Given the description of an element on the screen output the (x, y) to click on. 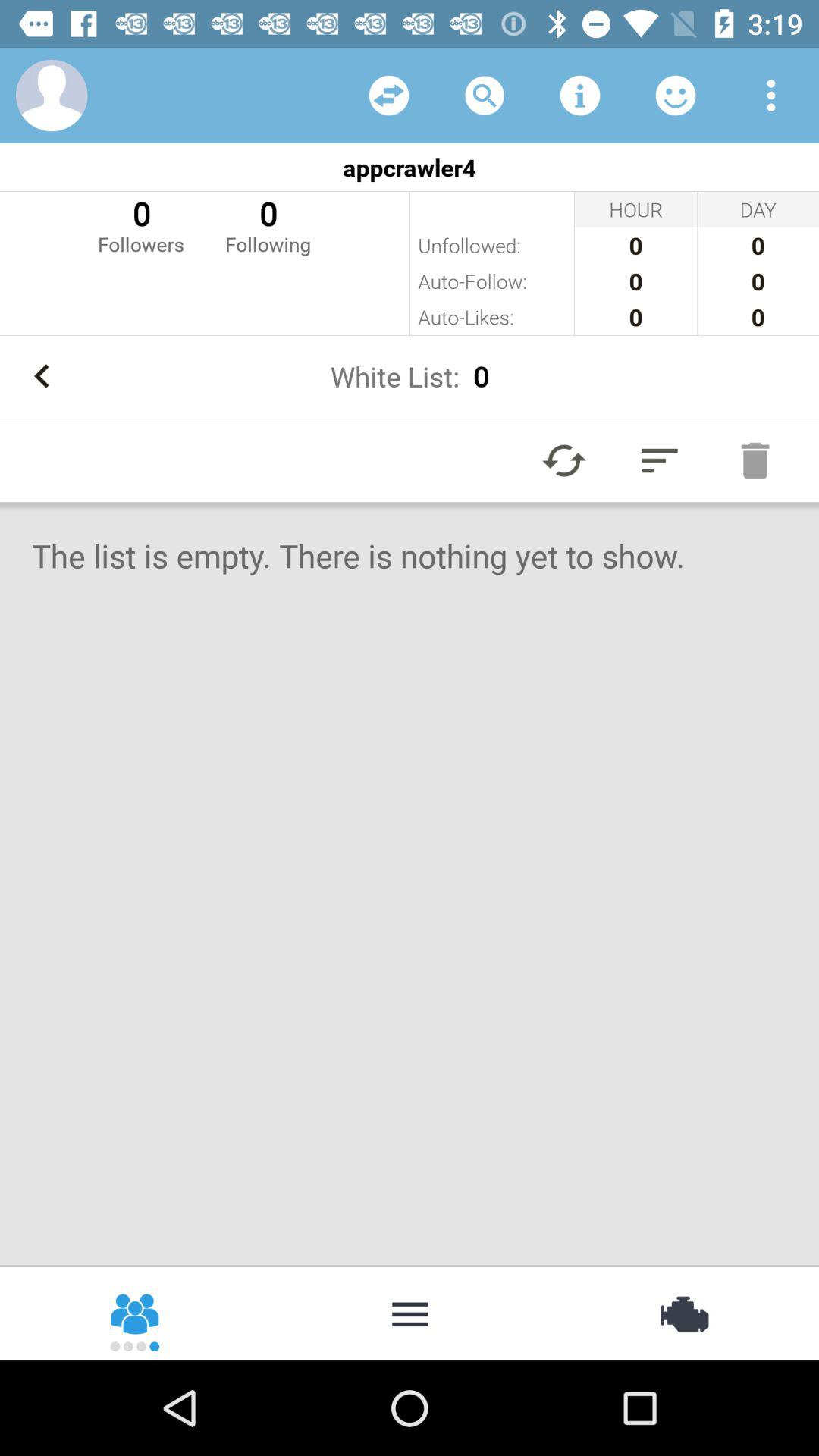
toggle autoplay option (563, 460)
